Given the description of an element on the screen output the (x, y) to click on. 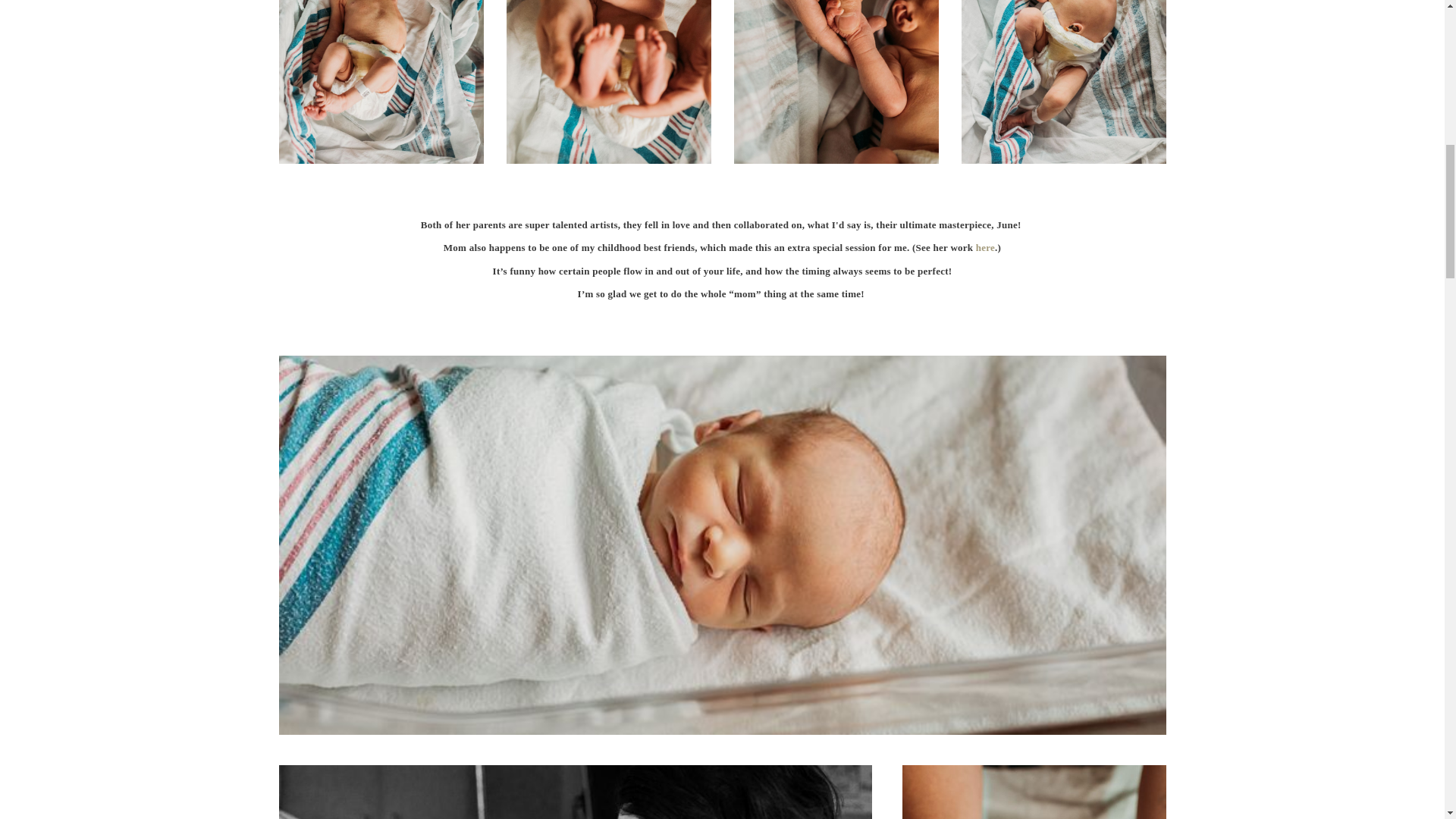
here (984, 247)
